Given the description of an element on the screen output the (x, y) to click on. 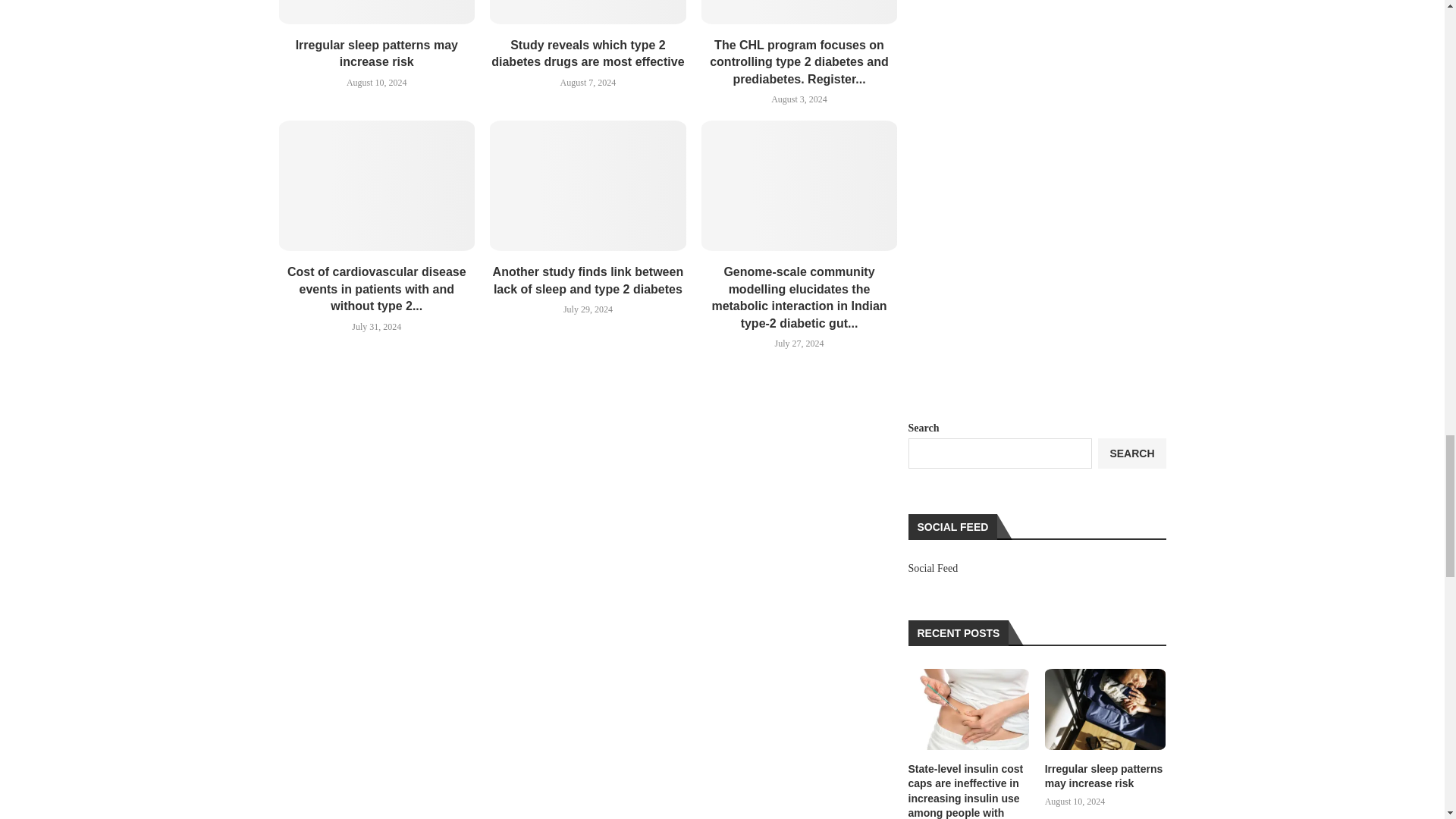
Irregular sleep patterns may increase risk (1105, 776)
Irregular sleep patterns may increase risk (377, 12)
Irregular sleep patterns may increase risk (1105, 709)
Study reveals which type 2 diabetes drugs are most effective (587, 12)
